Given the description of an element on the screen output the (x, y) to click on. 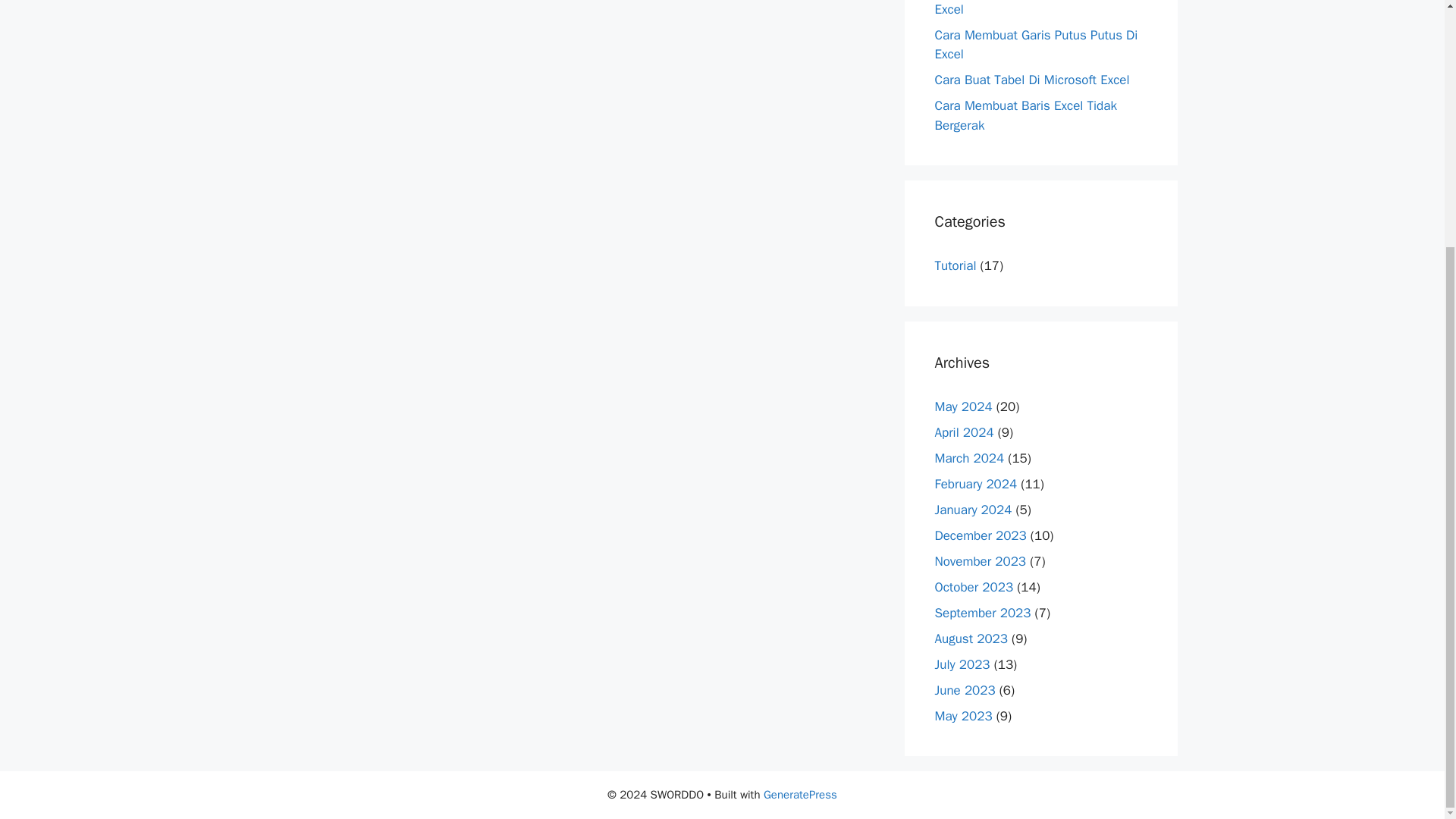
March 2024 (969, 457)
Cara Membuat Garis Putus Putus Di Excel (1035, 44)
April 2024 (963, 431)
May 2024 (962, 406)
February 2024 (975, 483)
May 2023 (962, 715)
GeneratePress (799, 794)
August 2023 (970, 637)
Tutorial (954, 265)
Cara Buat Terbilang Otomatis Di Excel (1024, 8)
September 2023 (982, 611)
December 2023 (980, 534)
January 2024 (972, 508)
October 2023 (973, 586)
June 2023 (964, 689)
